Given the description of an element on the screen output the (x, y) to click on. 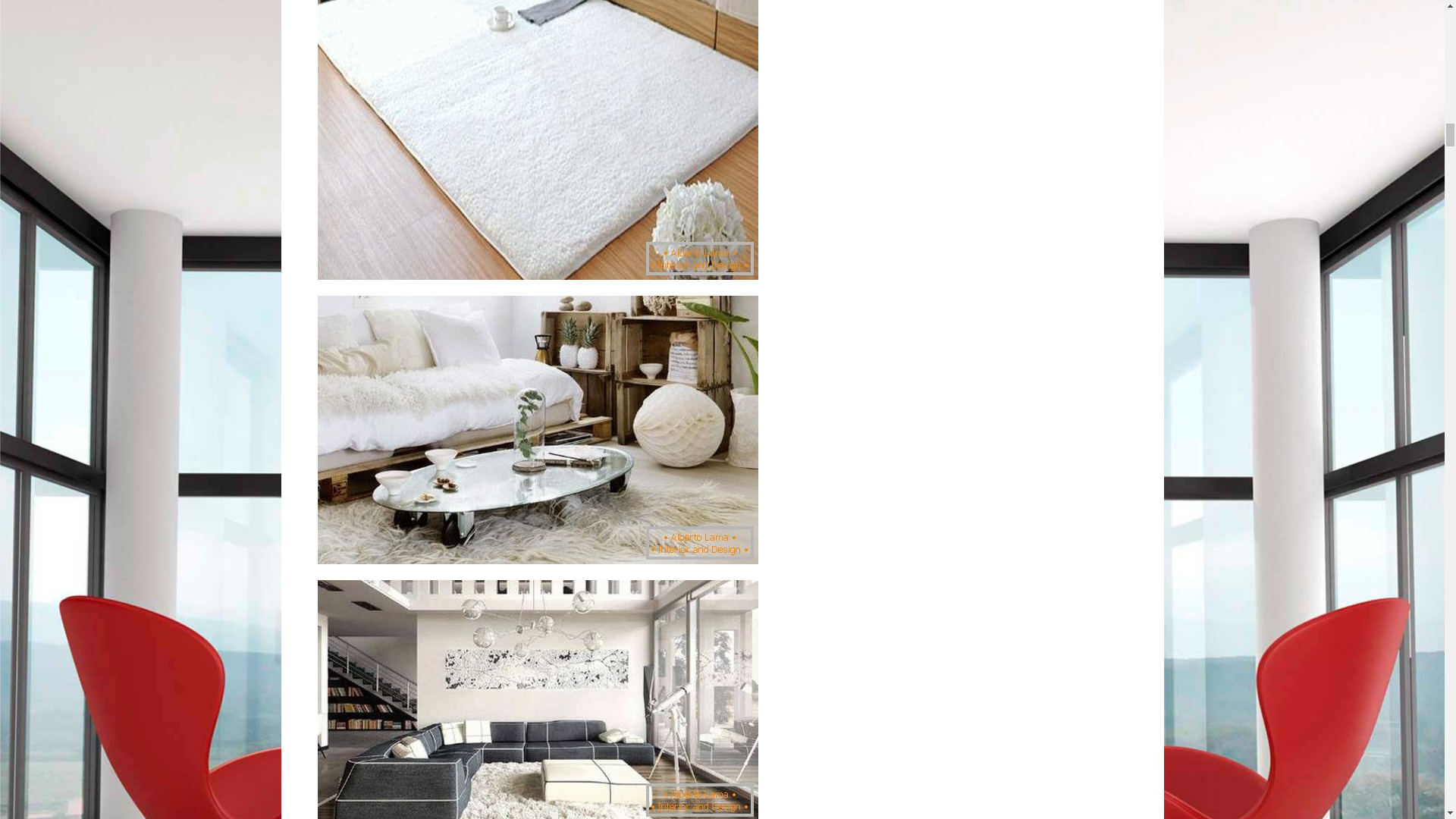
Picture 11: White carpet with long nap under a coffee table (537, 429)
